Given the description of an element on the screen output the (x, y) to click on. 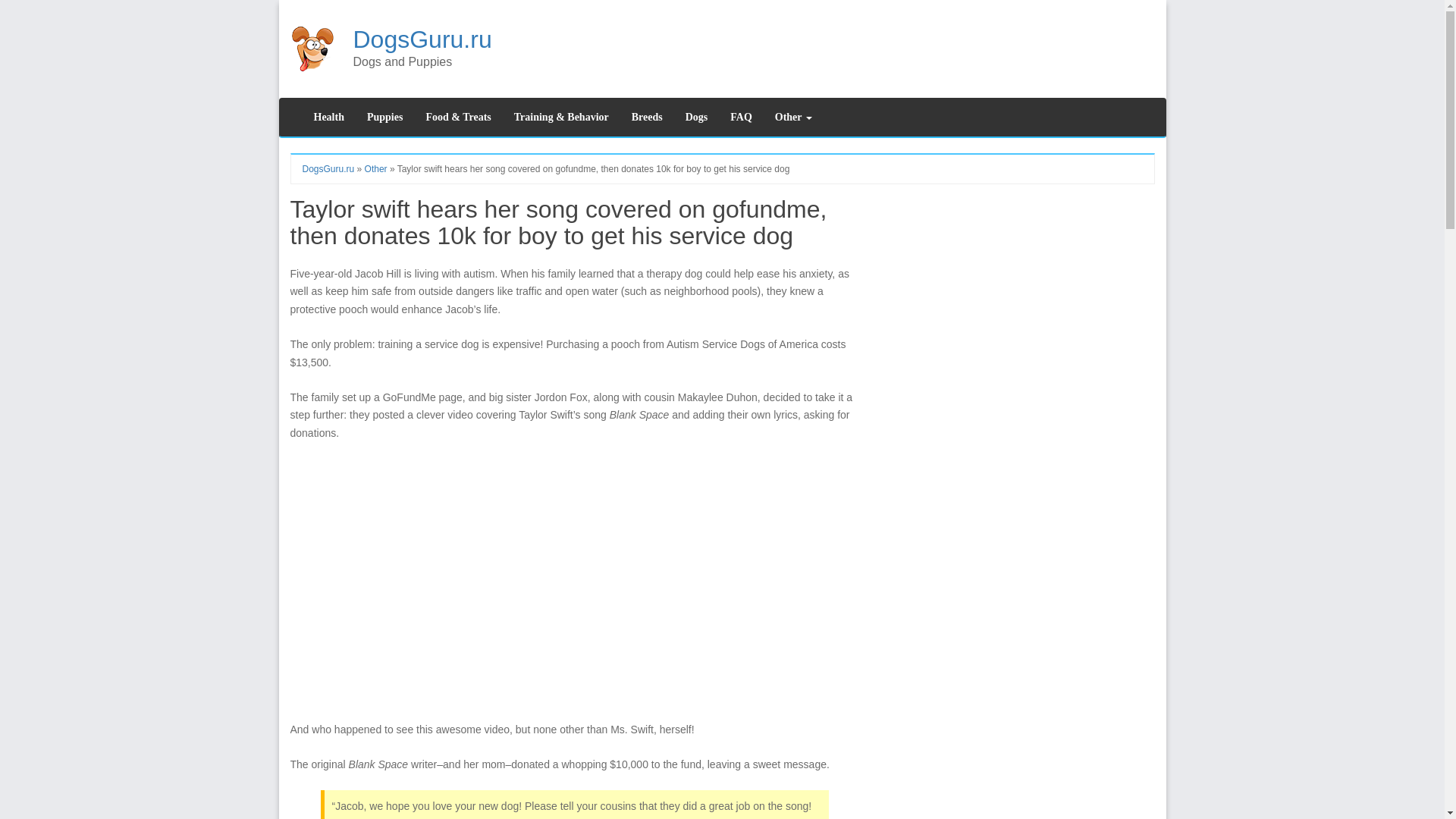
Breeds (647, 117)
Puppies (384, 117)
DogsGuru.ru (327, 168)
DogsGuru.ru (422, 39)
Health (328, 117)
Other (793, 117)
Dogs (696, 117)
FAQ (740, 117)
Other (376, 168)
